Given the description of an element on the screen output the (x, y) to click on. 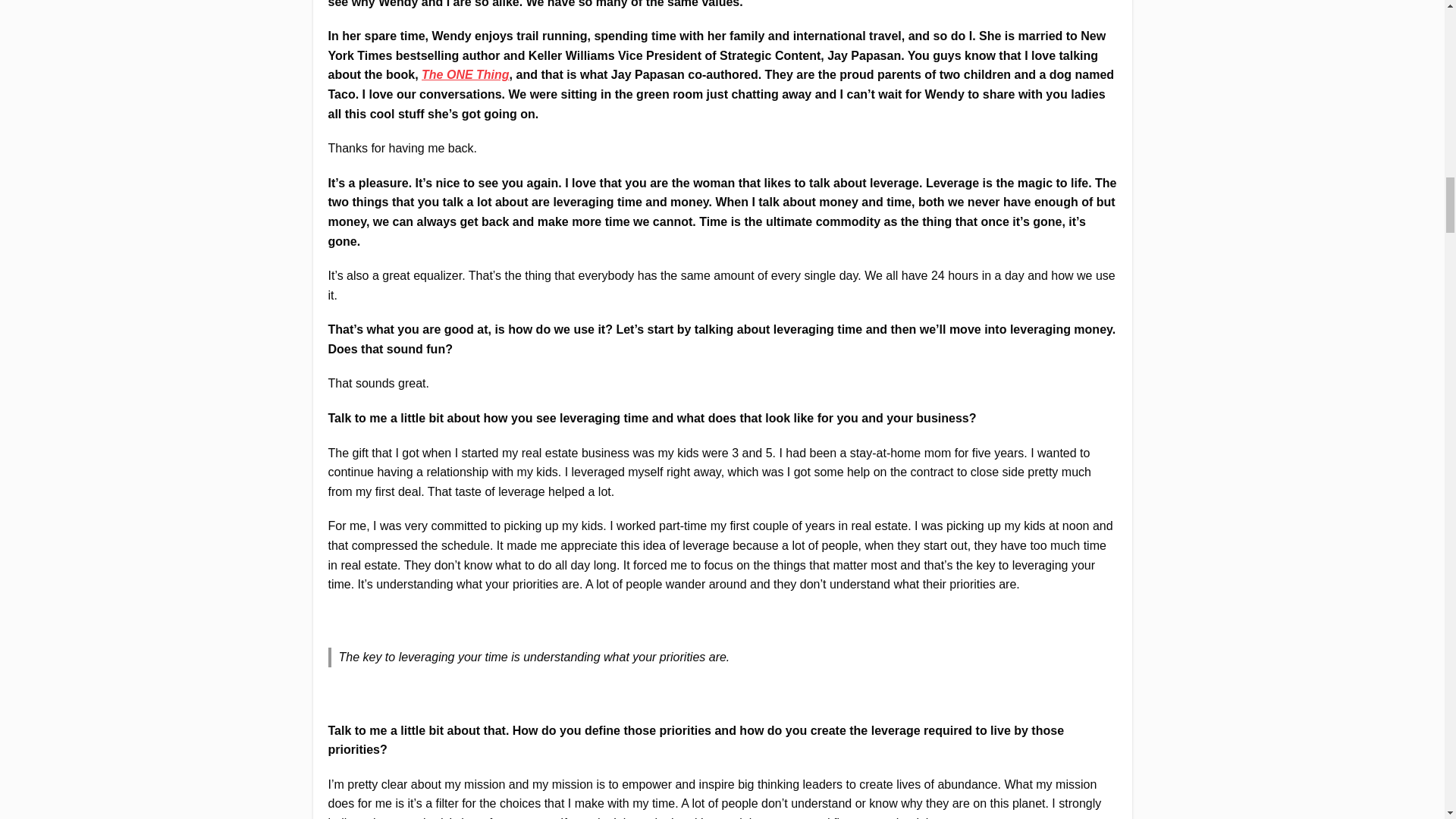
The ONE Thing (465, 74)
